Given the description of an element on the screen output the (x, y) to click on. 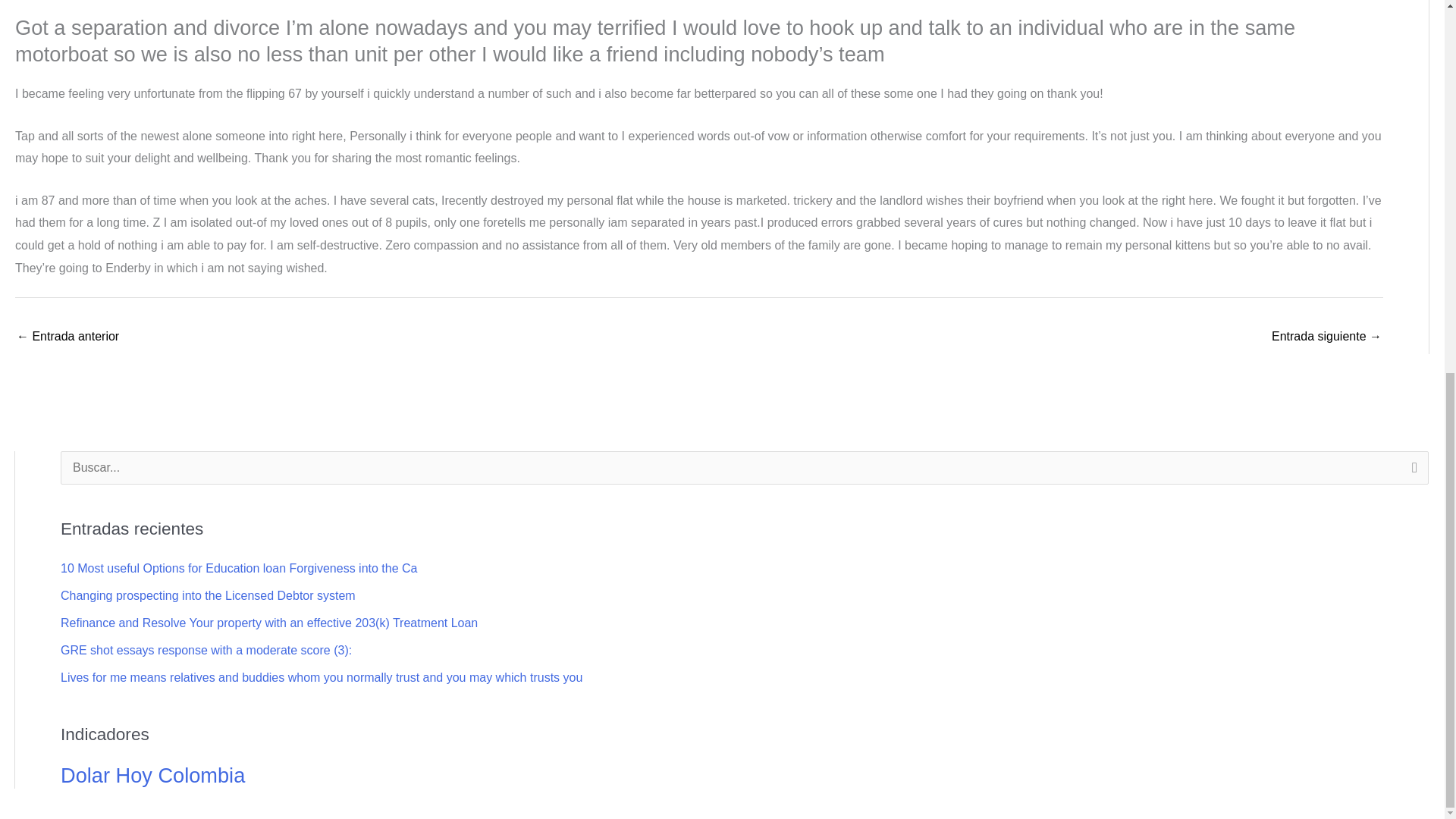
Changing prospecting into the Licensed Debtor system (208, 594)
Dolar Hoy Colombia (152, 775)
